Given the description of an element on the screen output the (x, y) to click on. 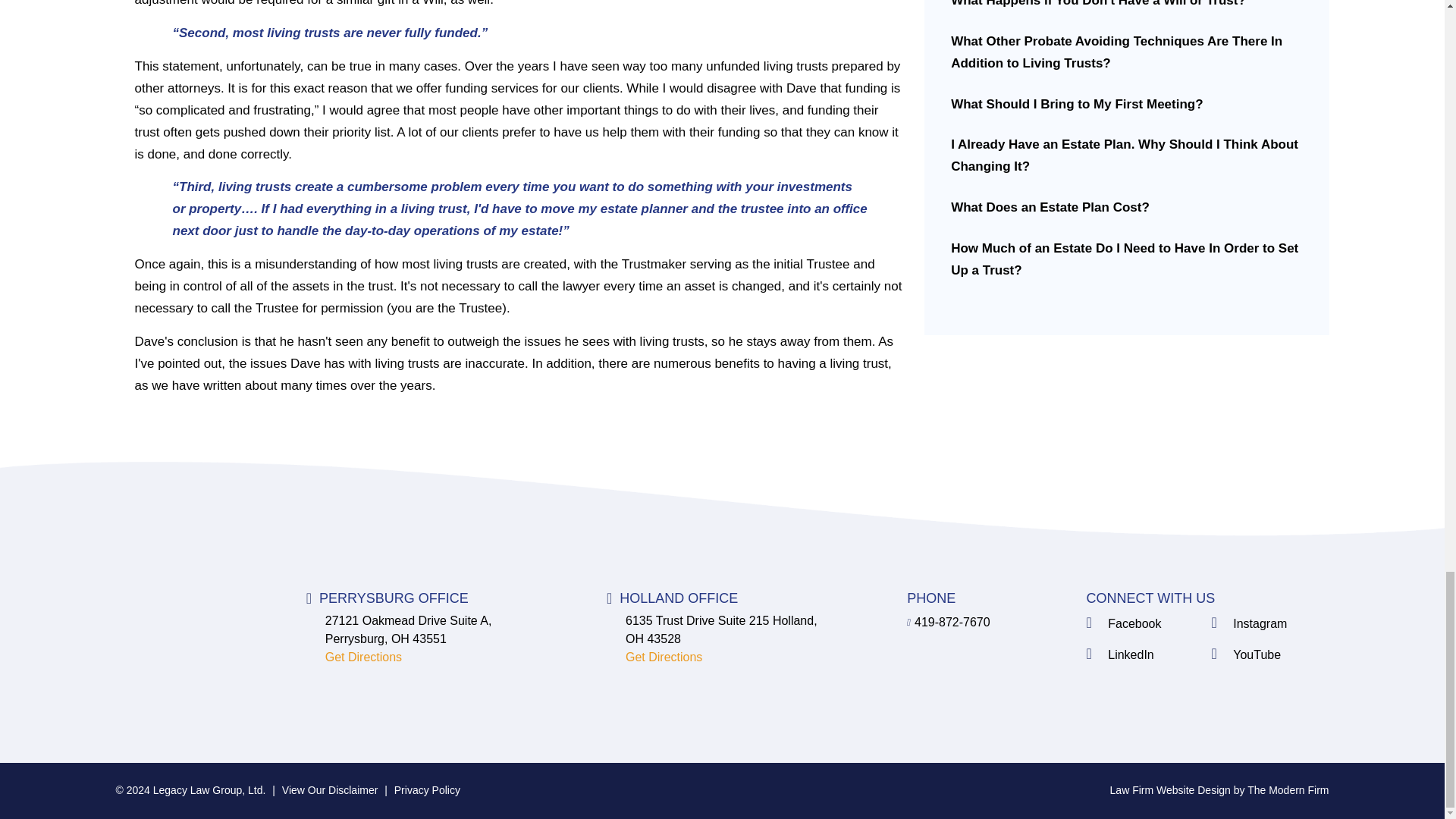
View Legacy Law Group, Ltd.'s Facebook Page (1145, 623)
View Legacy Law Group, Ltd.'s Instagram Page (1270, 623)
